Given the description of an element on the screen output the (x, y) to click on. 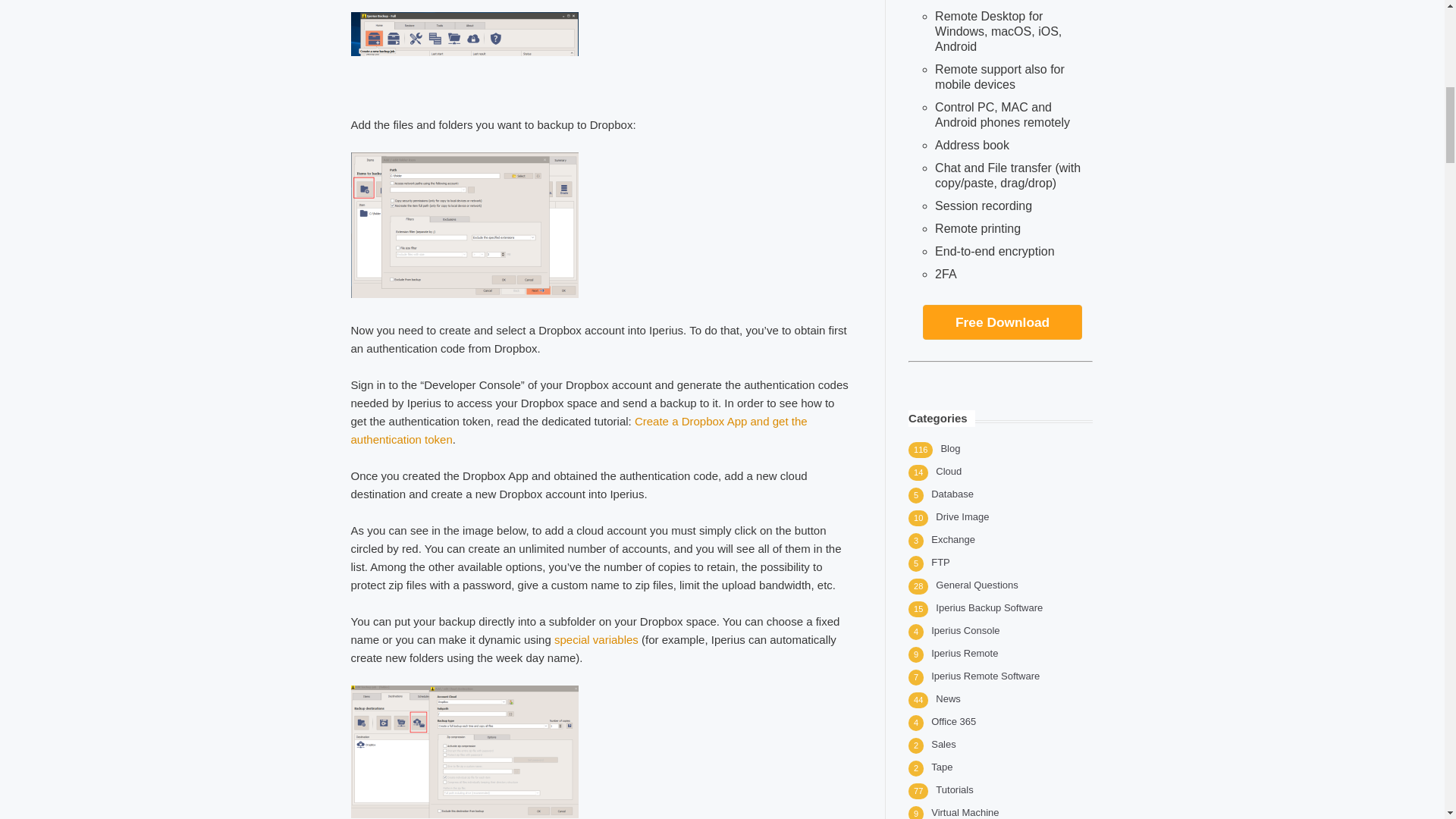
special variables (596, 639)
Create a Dropbox App and get the authentication token (578, 429)
